Given the description of an element on the screen output the (x, y) to click on. 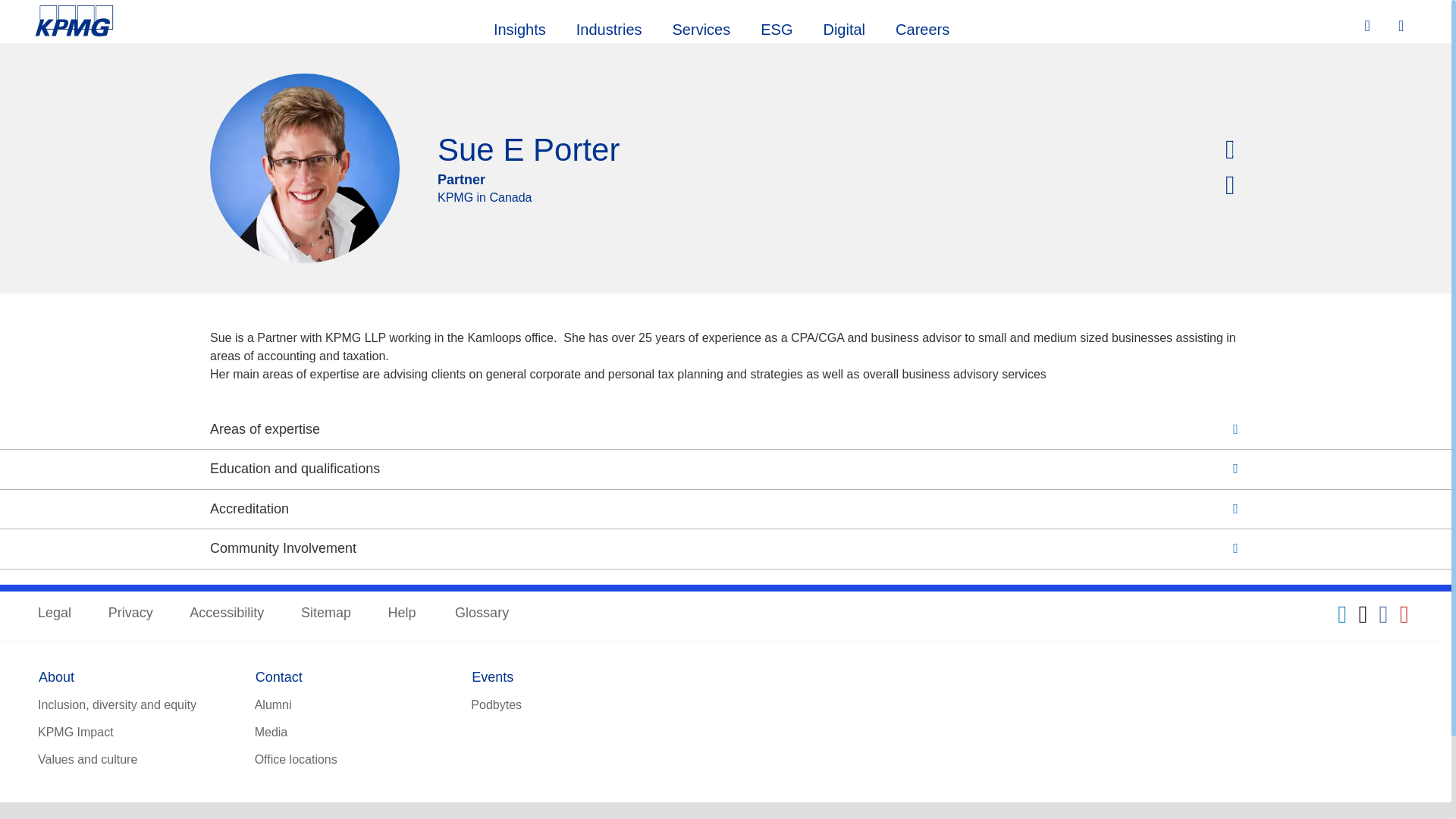
Site Selector (1402, 26)
Accreditation (725, 509)
Careers (921, 27)
Sitemap (325, 613)
Privacy (129, 613)
ESG (776, 27)
Glossary (481, 613)
Industries (609, 27)
Services (701, 27)
Help (403, 613)
